Given the description of an element on the screen output the (x, y) to click on. 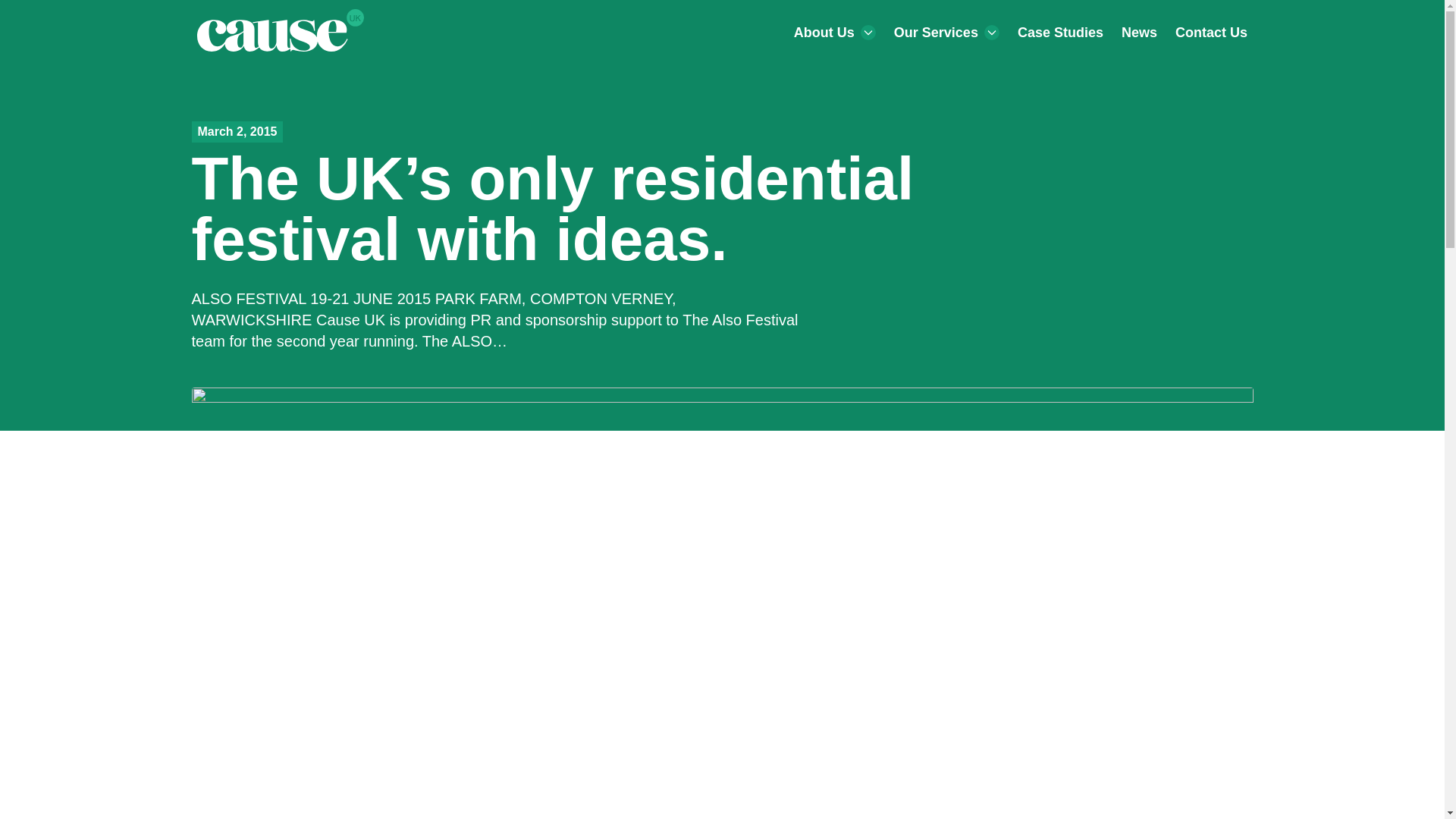
About Us (834, 32)
Contact Us (1211, 32)
Our Services (947, 32)
Case Studies (1060, 32)
News (1139, 32)
